Given the description of an element on the screen output the (x, y) to click on. 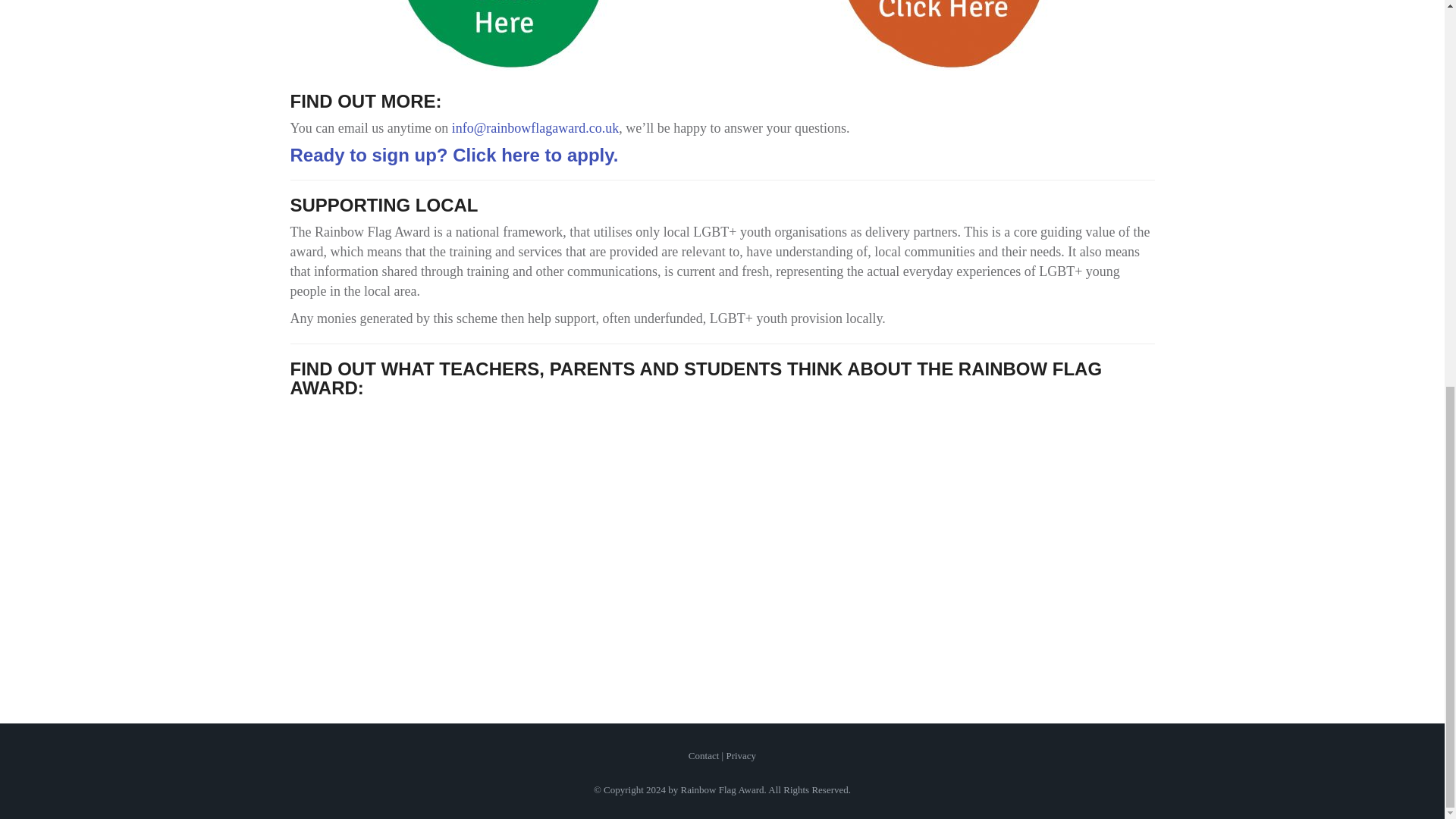
Privacy (740, 755)
Ready to sign up? Click here to apply. (453, 154)
Contact (703, 755)
YouTube player (721, 541)
